Given the description of an element on the screen output the (x, y) to click on. 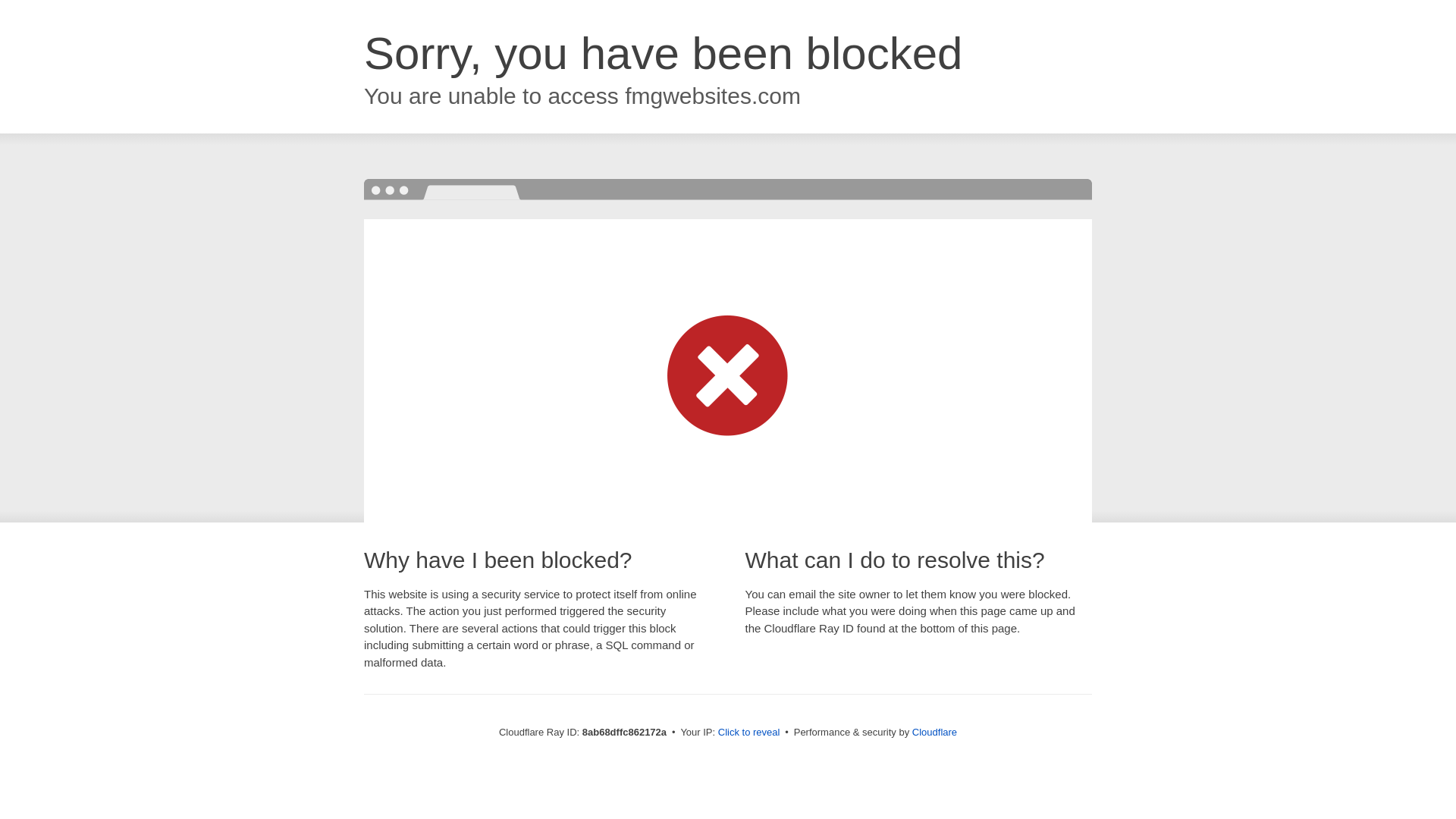
Cloudflare (934, 731)
Click to reveal (748, 732)
